Given the description of an element on the screen output the (x, y) to click on. 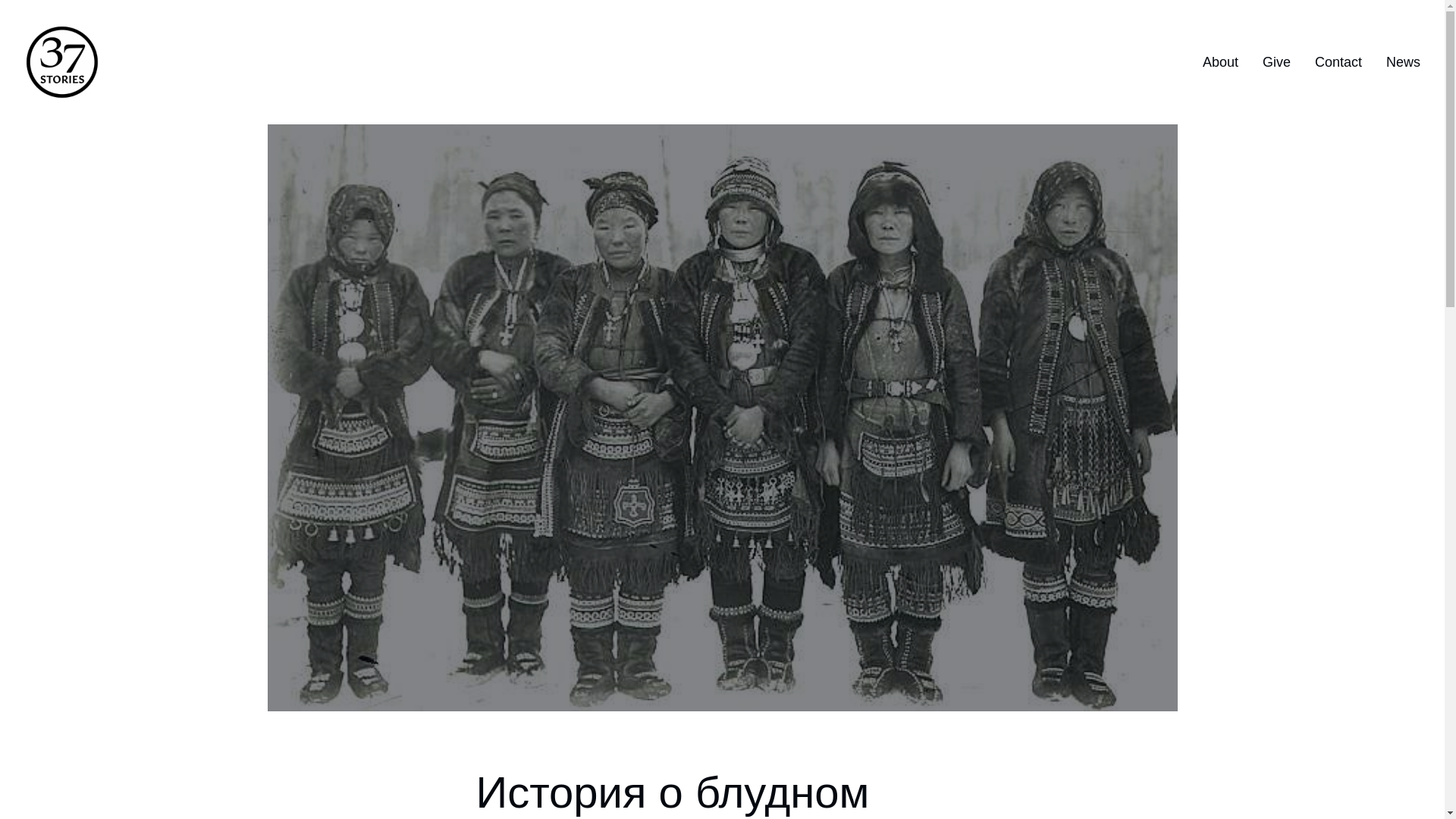
News Element type: text (1403, 62)
Give Element type: text (1276, 62)
About Element type: text (1220, 62)
Contact Element type: text (1337, 62)
